Given the description of an element on the screen output the (x, y) to click on. 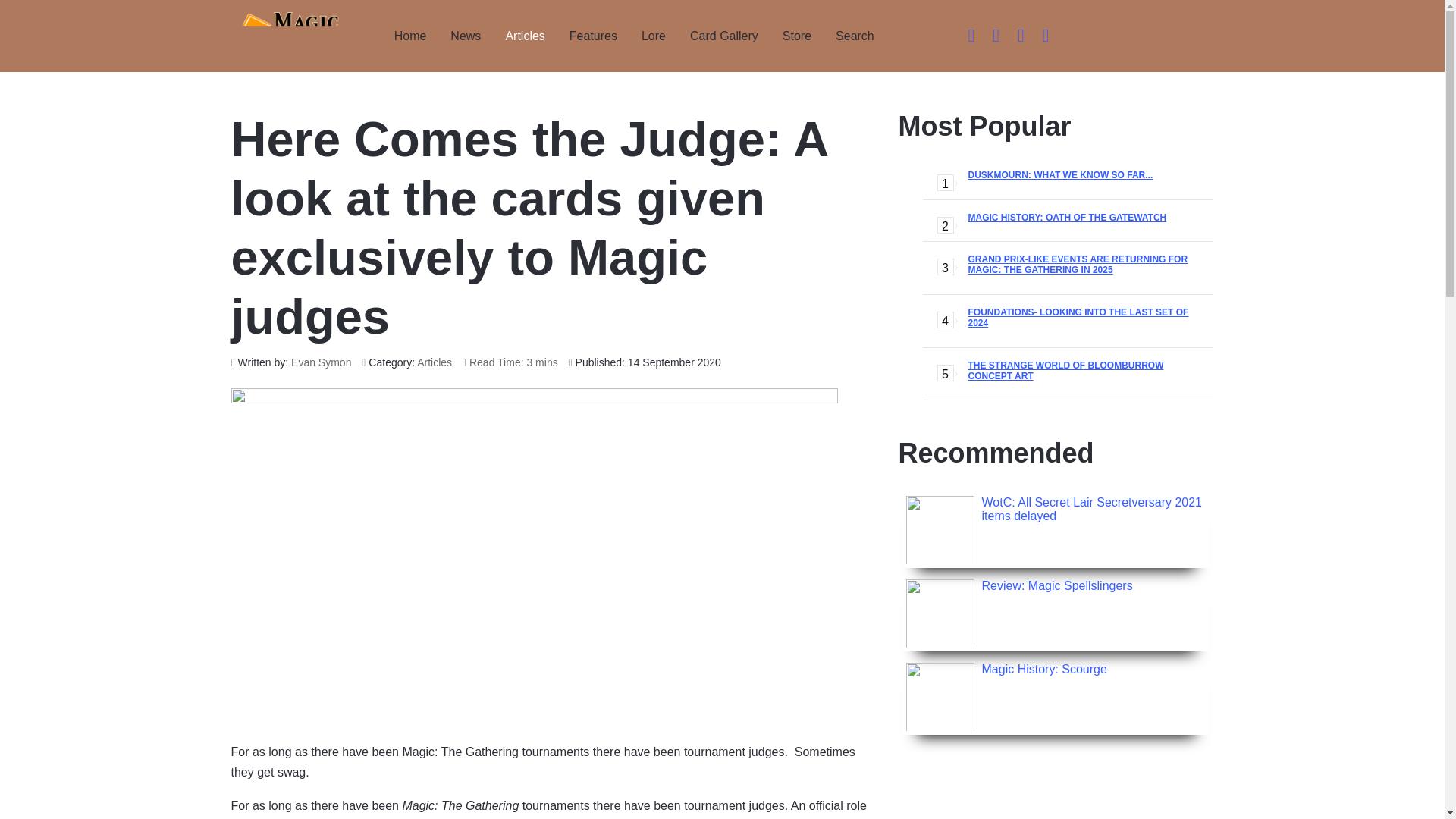
Home (410, 35)
News (465, 35)
Lore (653, 35)
Search (855, 35)
Store (797, 35)
Card Gallery (724, 35)
Features (592, 35)
News (465, 35)
Home (410, 35)
Store (797, 35)
